Given the description of an element on the screen output the (x, y) to click on. 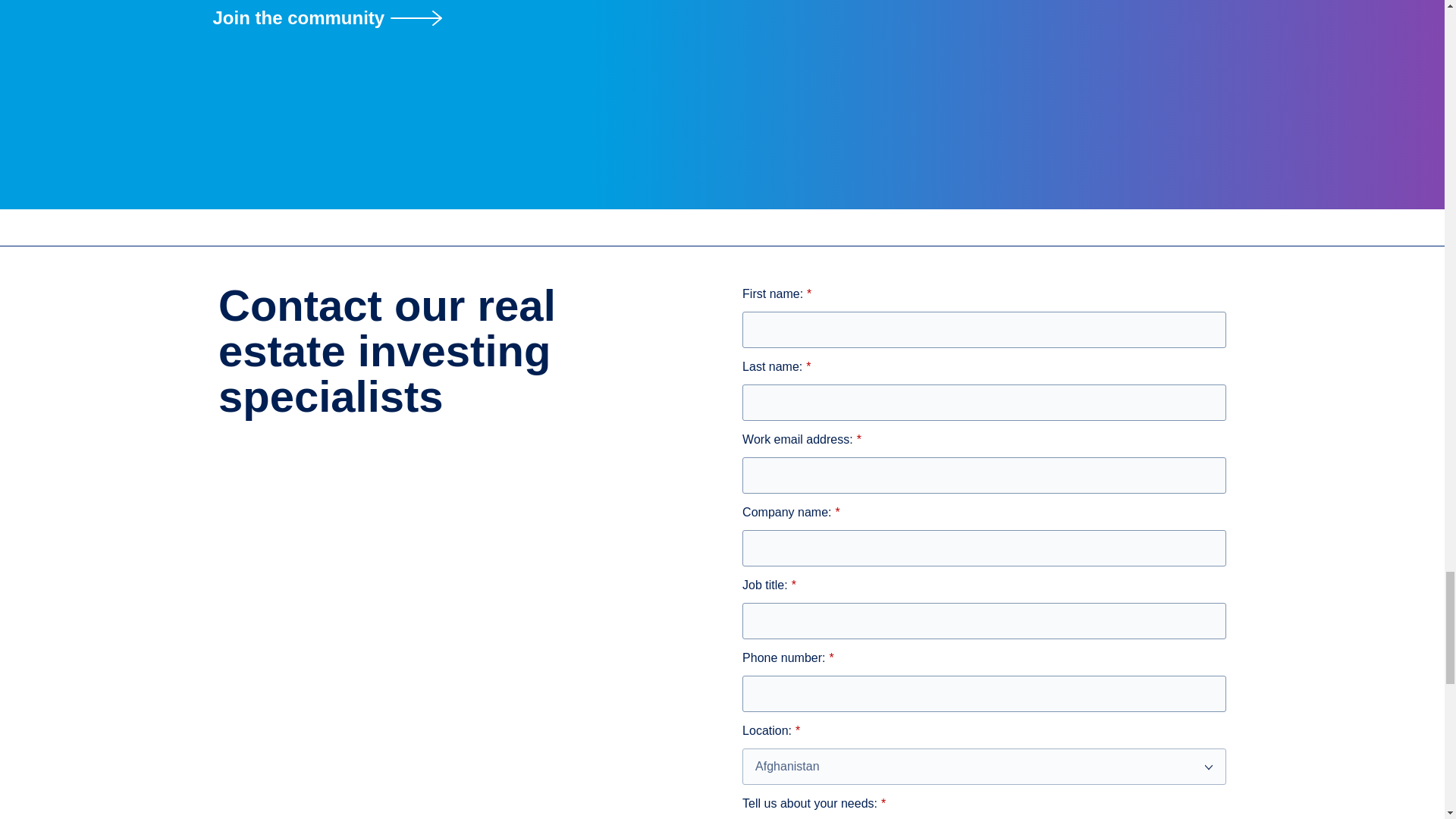
Please select your work location from the dropdown list. (983, 766)
Join the community (721, 17)
Please enter your job title here. (983, 620)
Join the community (721, 17)
